Given the description of an element on the screen output the (x, y) to click on. 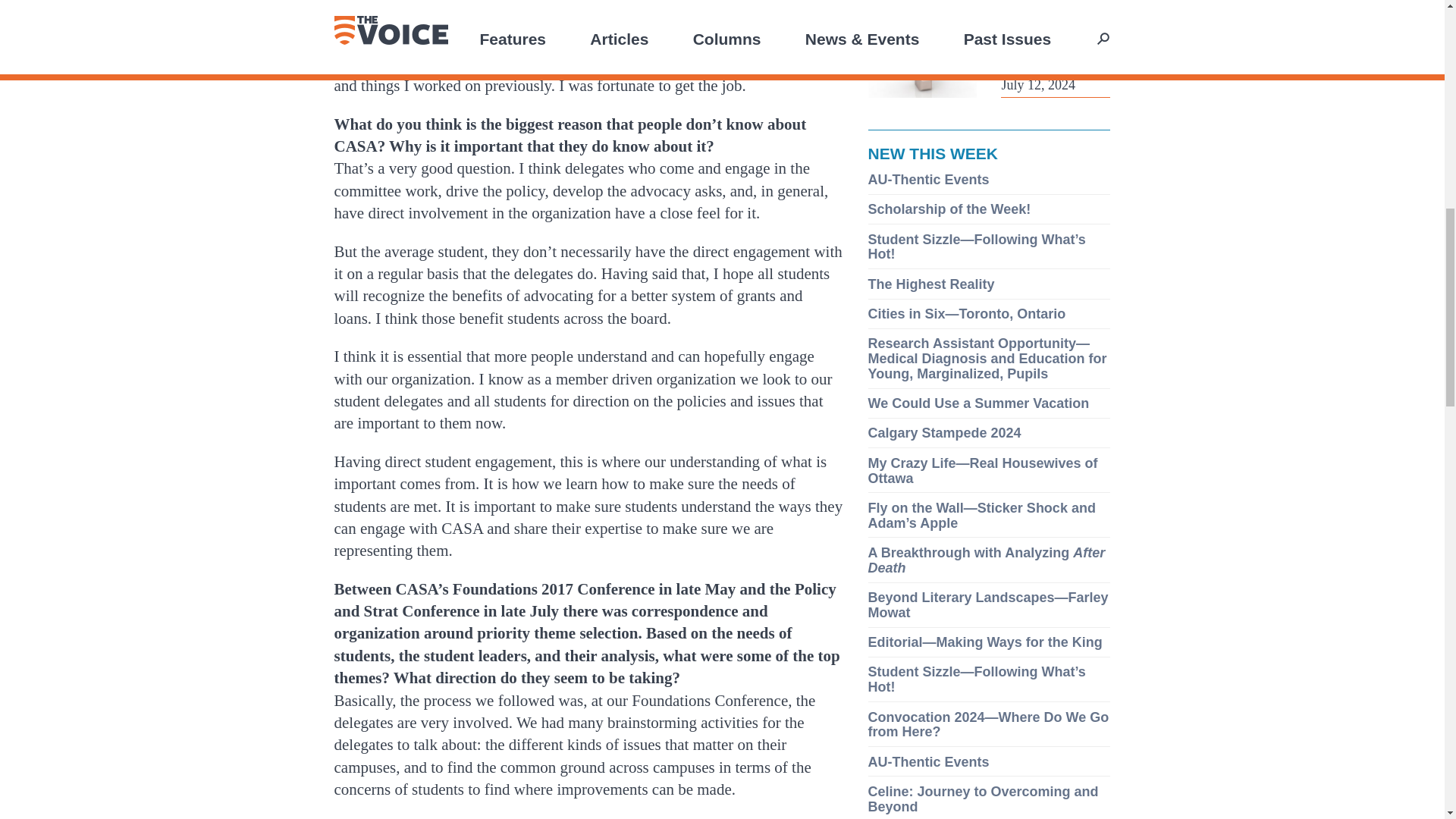
Scholarship of the Week! (948, 209)
The Highest Reality (930, 283)
You Received Your Degree: Now What? (1052, 32)
AU-Thentic Events (927, 179)
AU-Thentic Events (927, 179)
Scholarship of the Week! (948, 209)
You Received Your Degree: Now What? (1052, 32)
